Given the description of an element on the screen output the (x, y) to click on. 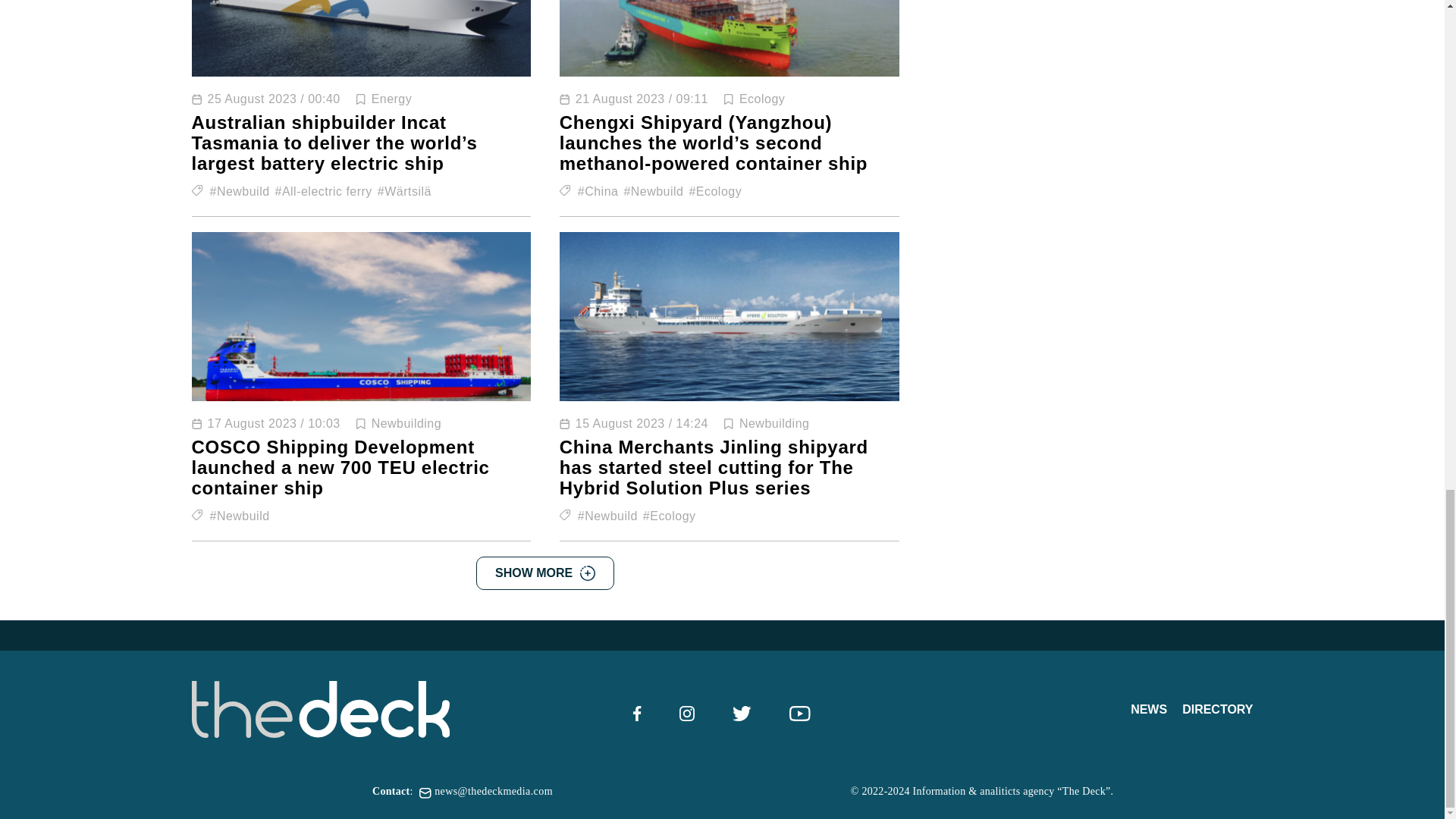
Newbuilding (406, 423)
Energy (391, 99)
China (598, 191)
Ecology (714, 191)
Newbuild (239, 191)
Ecology (761, 99)
All-electric ferry (323, 191)
Newbuild (652, 191)
